Given the description of an element on the screen output the (x, y) to click on. 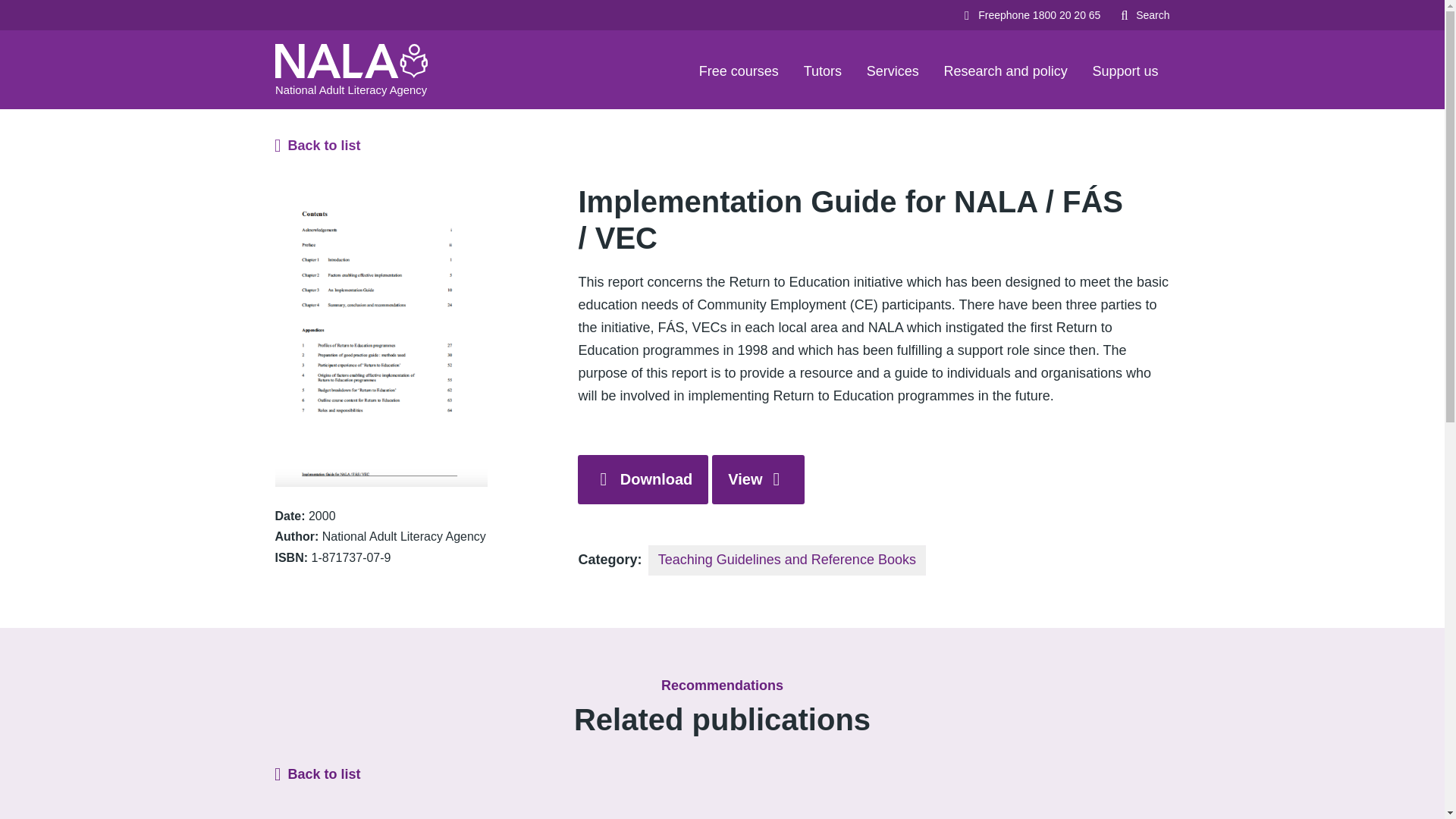
Free courses (738, 69)
Free courses (738, 69)
Search (1143, 15)
Services (893, 69)
Freephone 1800 20 20 65 (1029, 15)
Services (893, 69)
